Given the description of an element on the screen output the (x, y) to click on. 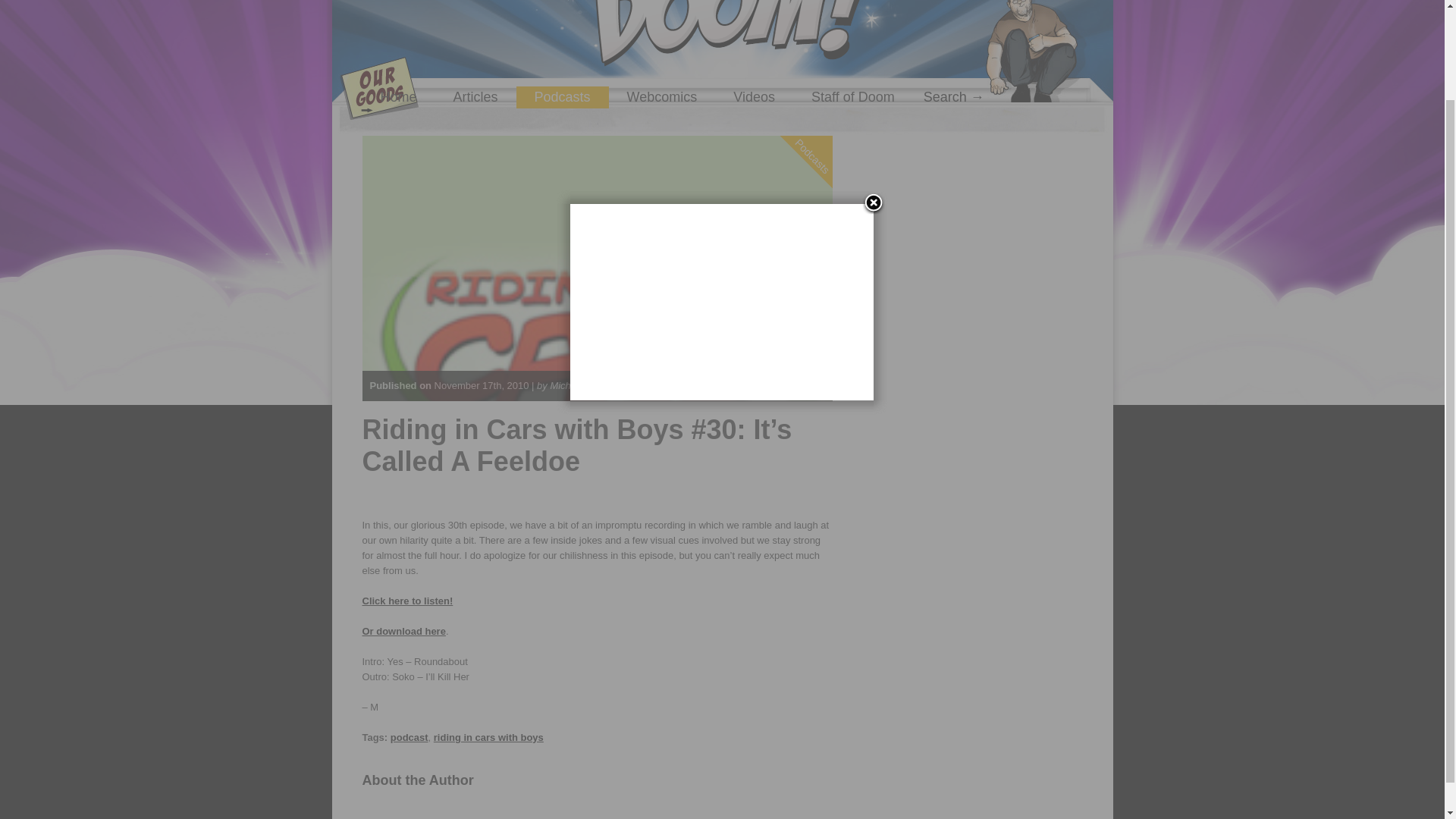
Videos (753, 97)
Or download here (403, 631)
Click here to listen! (407, 600)
Podcasts (562, 97)
Home (398, 97)
Articles (475, 97)
podcast (409, 737)
riding in cars with boys (488, 737)
Webcomics (662, 97)
Podcasts (828, 93)
